Given the description of an element on the screen output the (x, y) to click on. 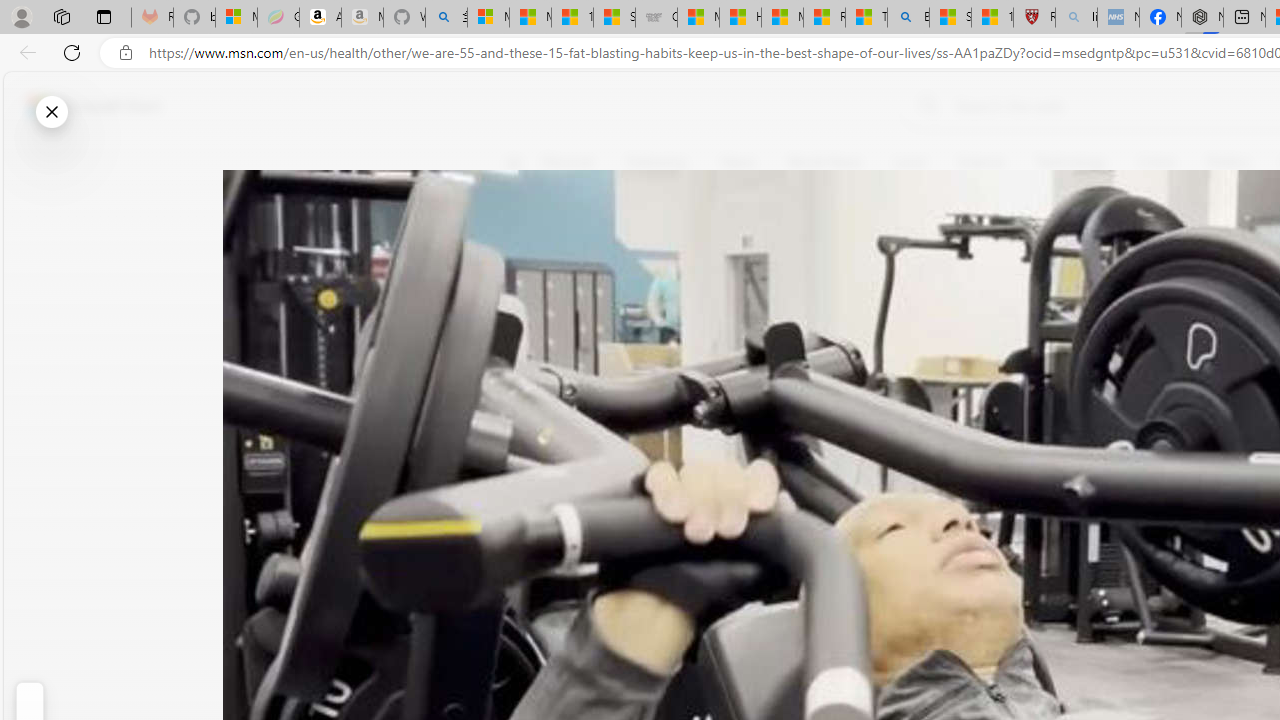
Class: at-item (525, 468)
6 Like (525, 244)
Body Network (788, 259)
